Given the description of an element on the screen output the (x, y) to click on. 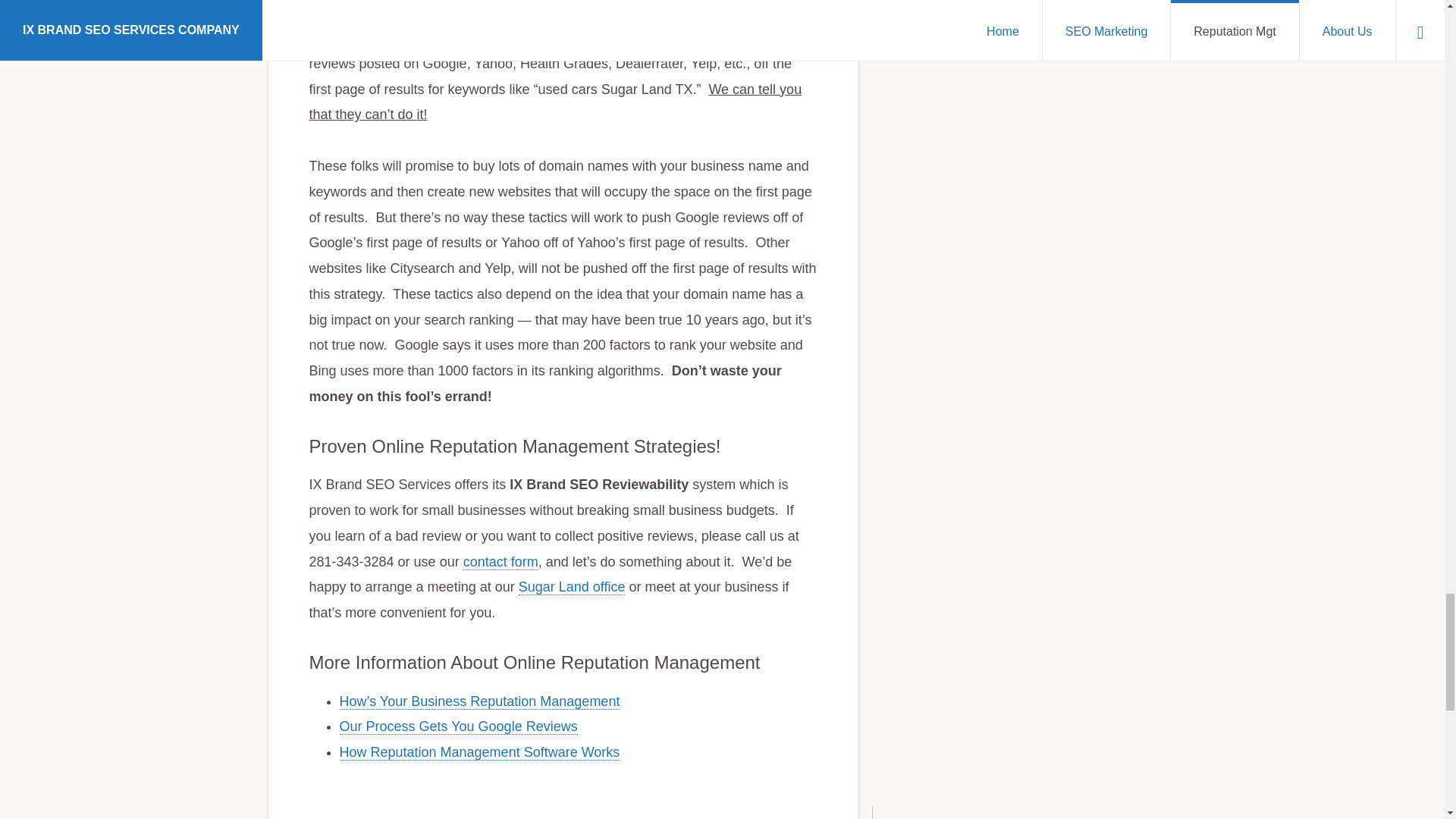
contact form (500, 562)
Contact (500, 562)
Sugar Land office (572, 587)
